Given the description of an element on the screen output the (x, y) to click on. 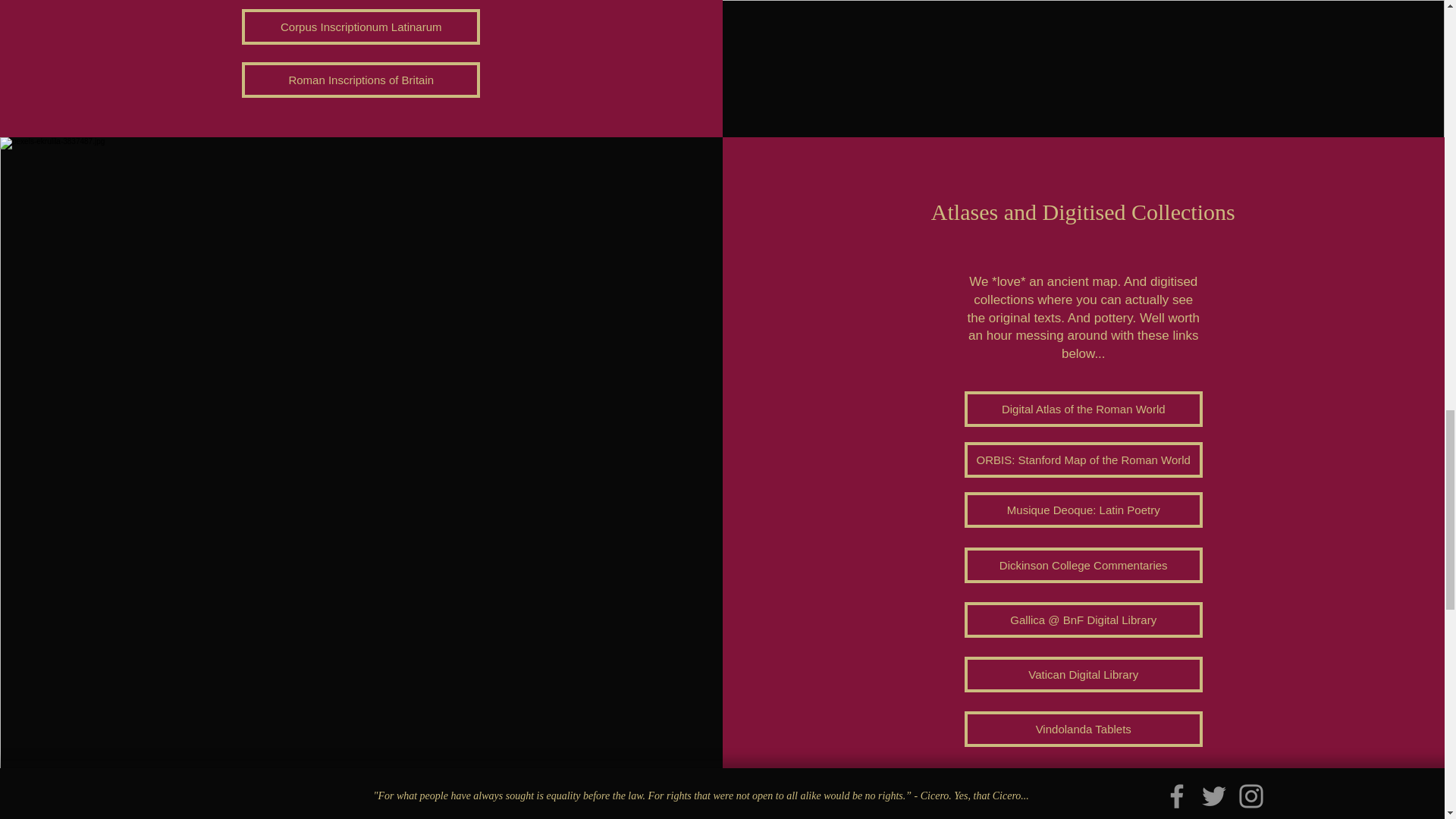
Digital Atlas of the Roman World (1082, 408)
Musique Deoque: Latin Poetry (1082, 509)
ORBIS: Stanford Map of the Roman World (1082, 459)
Dickinson College Commentaries (1082, 565)
Roman Inscriptions of Britain (360, 79)
Corpus Inscriptionum Latinarum (360, 27)
Vatican Digital Library (1082, 674)
Vindolanda Tablets (1082, 728)
